Given the description of an element on the screen output the (x, y) to click on. 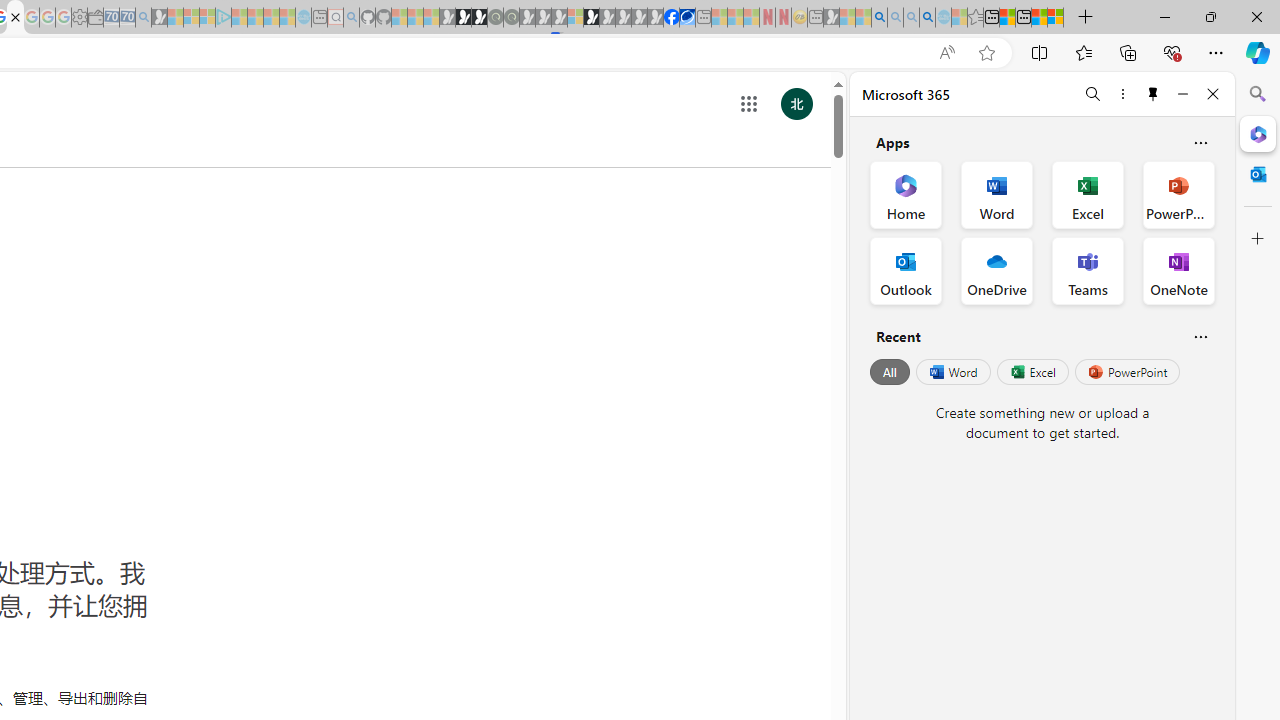
Favorites - Sleeping (975, 17)
github - Search - Sleeping (351, 17)
OneNote Office App (1178, 270)
Google Chrome Internet Browser Download - Search Images (927, 17)
